Given the description of an element on the screen output the (x, y) to click on. 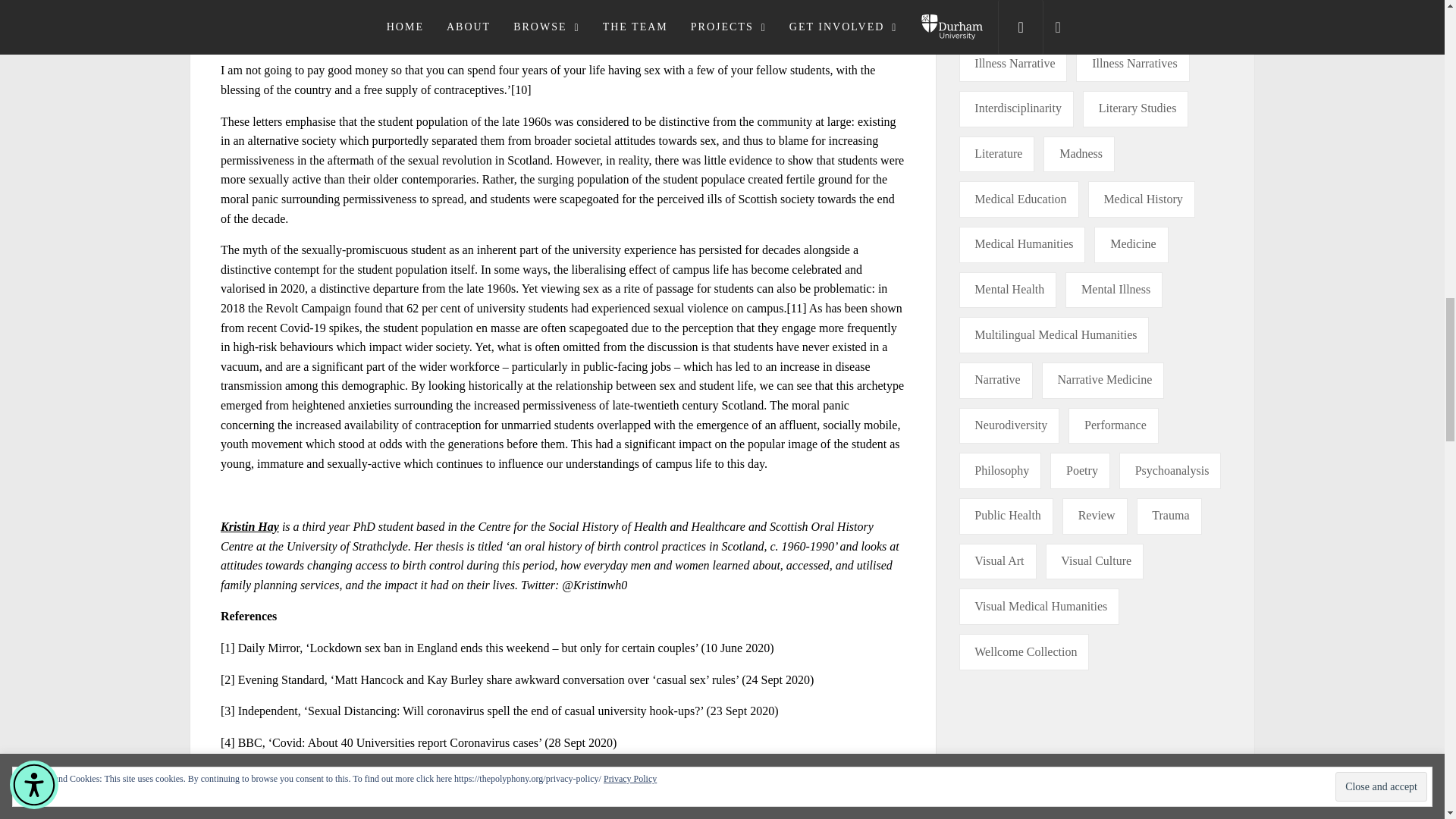
Kristin Hay (250, 526)
